Given the description of an element on the screen output the (x, y) to click on. 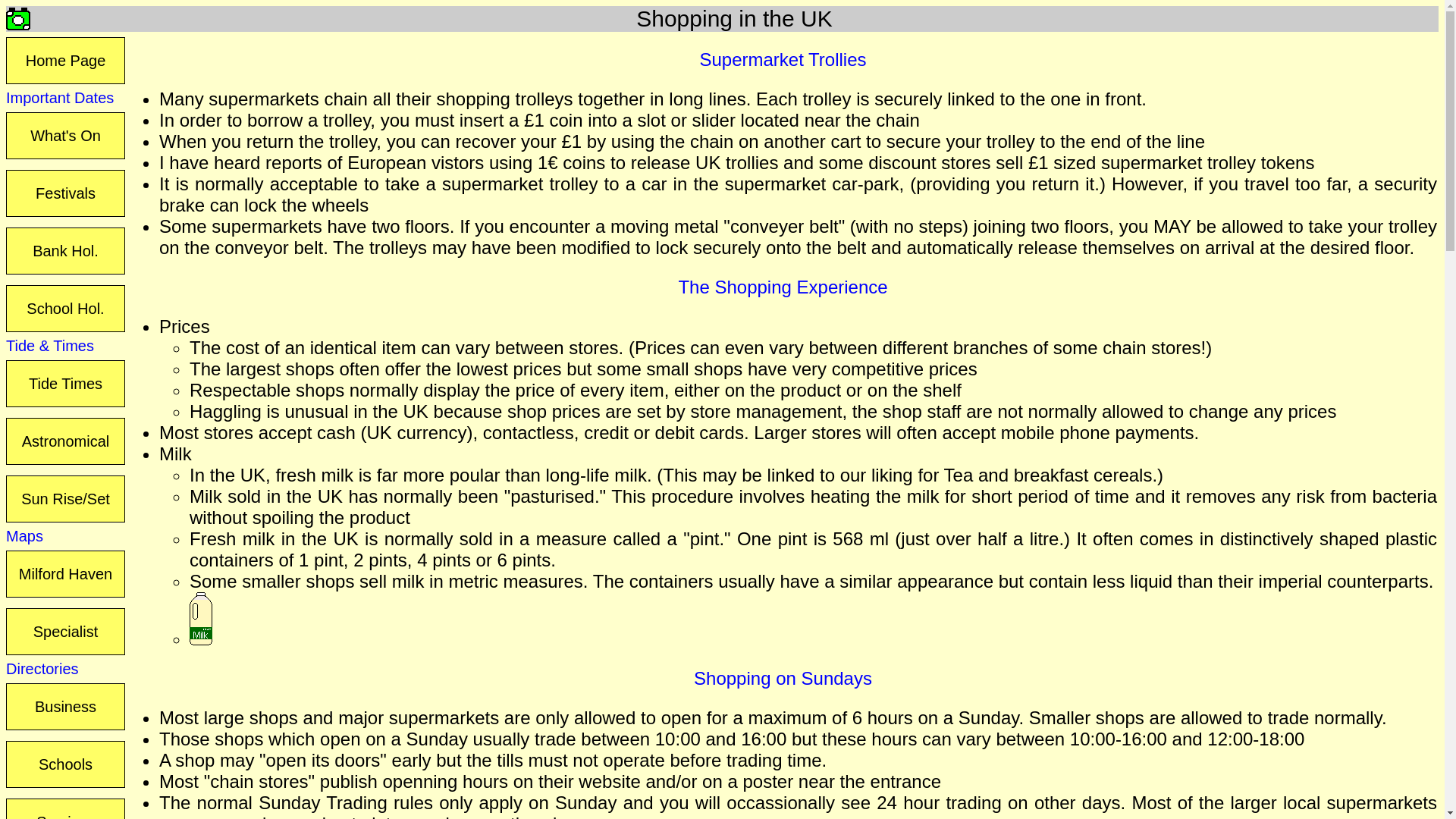
Festivals (65, 193)
Home Page (65, 60)
Schools (65, 764)
Astronomical (65, 441)
Services (65, 808)
Business (65, 706)
Bank Hol. (65, 250)
Tide Times (65, 383)
School Hol. (65, 308)
Milford Haven (65, 573)
